Given the description of an element on the screen output the (x, y) to click on. 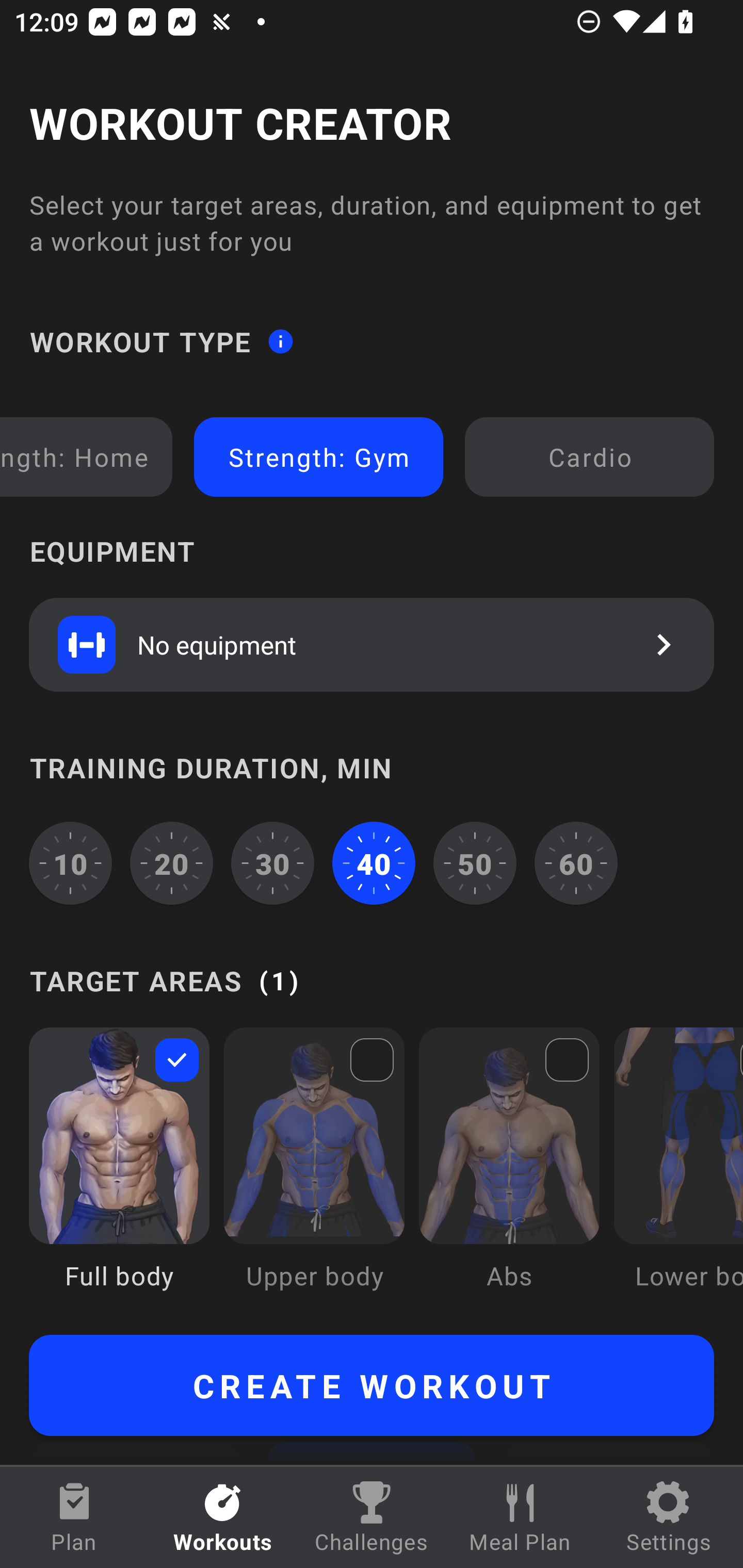
Workout type information button (280, 340)
Cardio (588, 457)
No equipment (371, 644)
10 (70, 863)
20 (171, 863)
30 (272, 863)
40 (373, 863)
50 (474, 863)
60 (575, 863)
Upper body (313, 1172)
Abs (509, 1172)
Lower body (678, 1172)
CREATE WORKOUT (371, 1385)
 Plan  (74, 1517)
 Challenges  (371, 1517)
 Meal Plan  (519, 1517)
 Settings  (668, 1517)
